Given the description of an element on the screen output the (x, y) to click on. 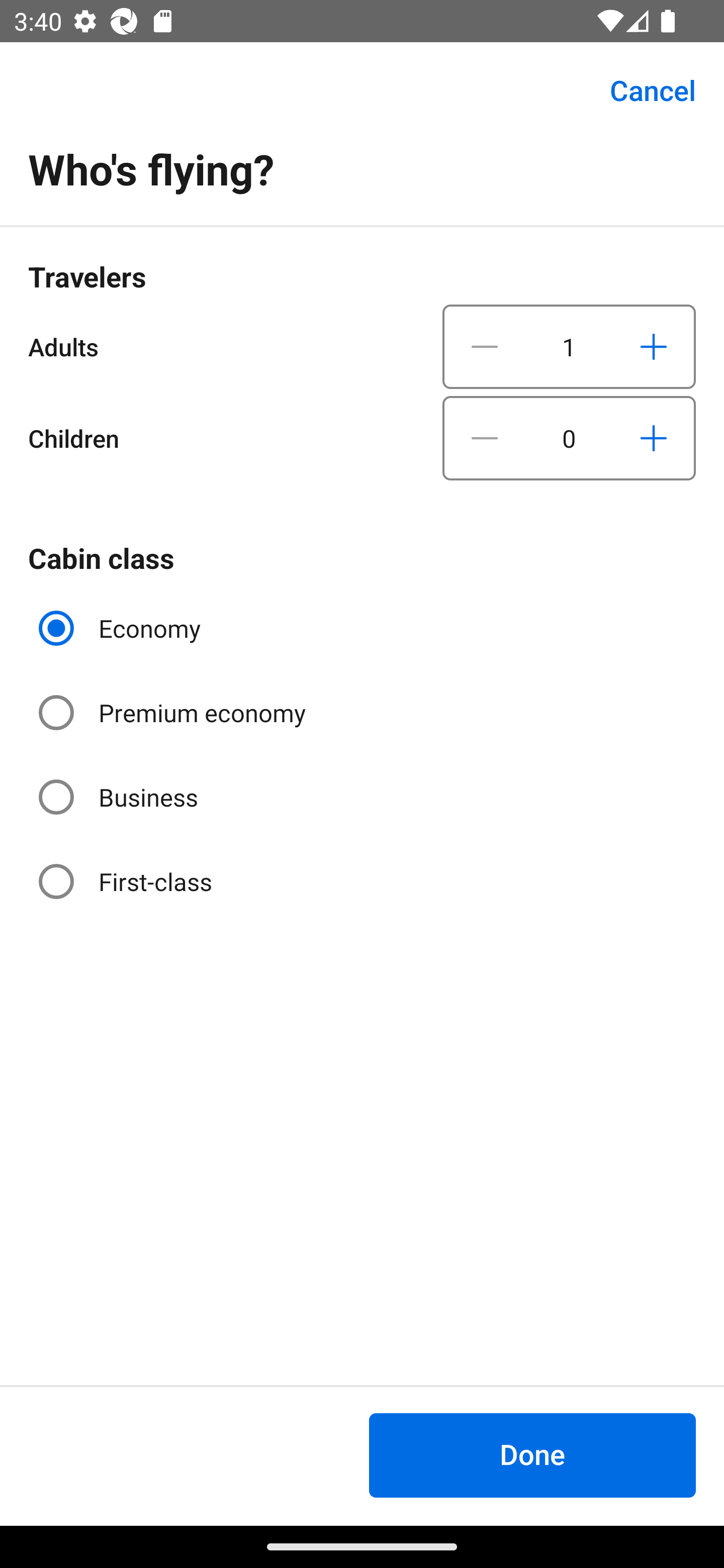
Cancel (641, 90)
Decrease (484, 346)
Increase (653, 346)
Decrease (484, 437)
Increase (653, 437)
Economy (121, 628)
Premium economy (174, 712)
Business (120, 796)
First-class (126, 880)
Done (532, 1454)
